Given the description of an element on the screen output the (x, y) to click on. 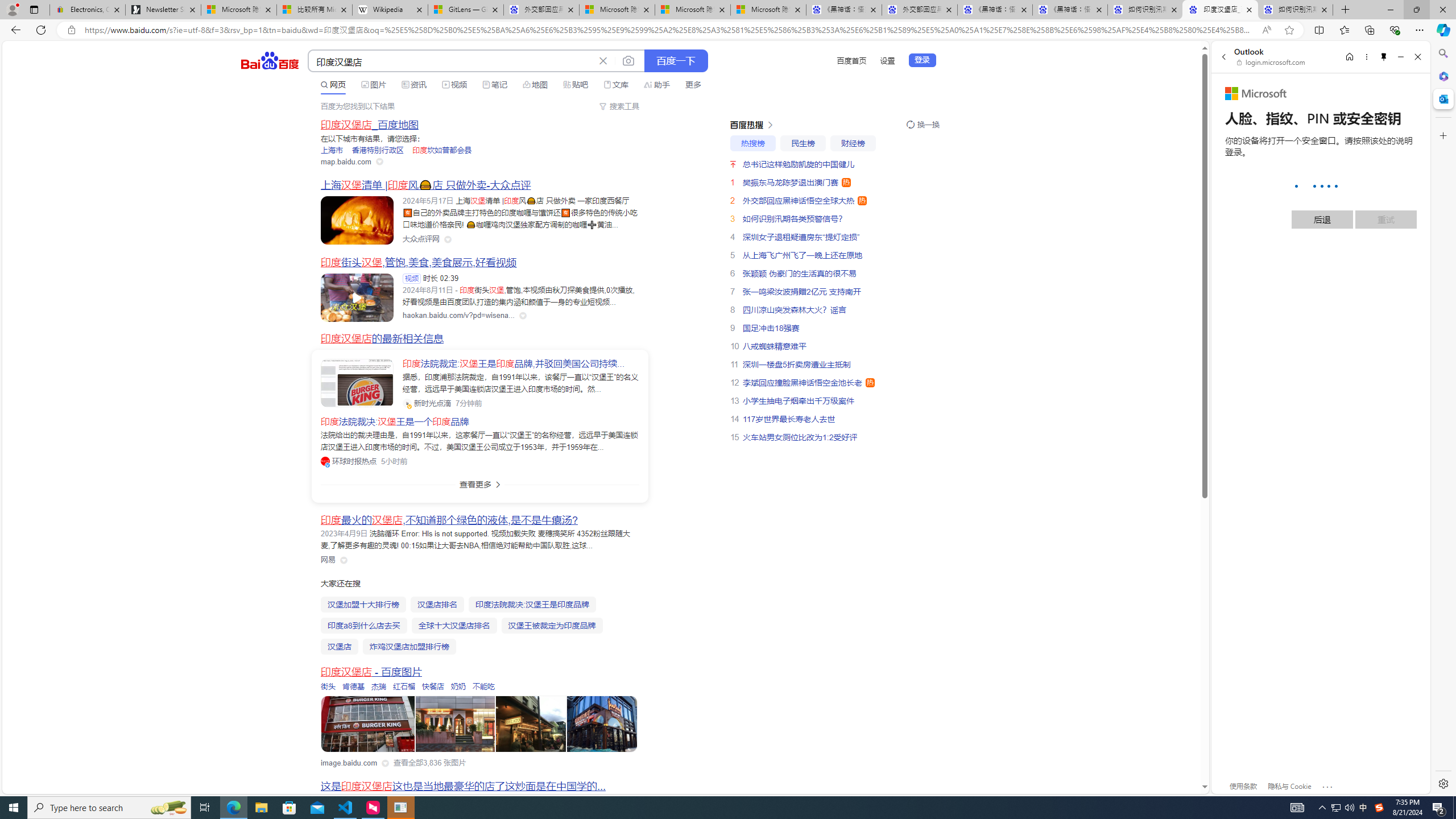
Unpin side pane (1383, 56)
Class: c-img c-img-radius-large (356, 382)
